Given the description of an element on the screen output the (x, y) to click on. 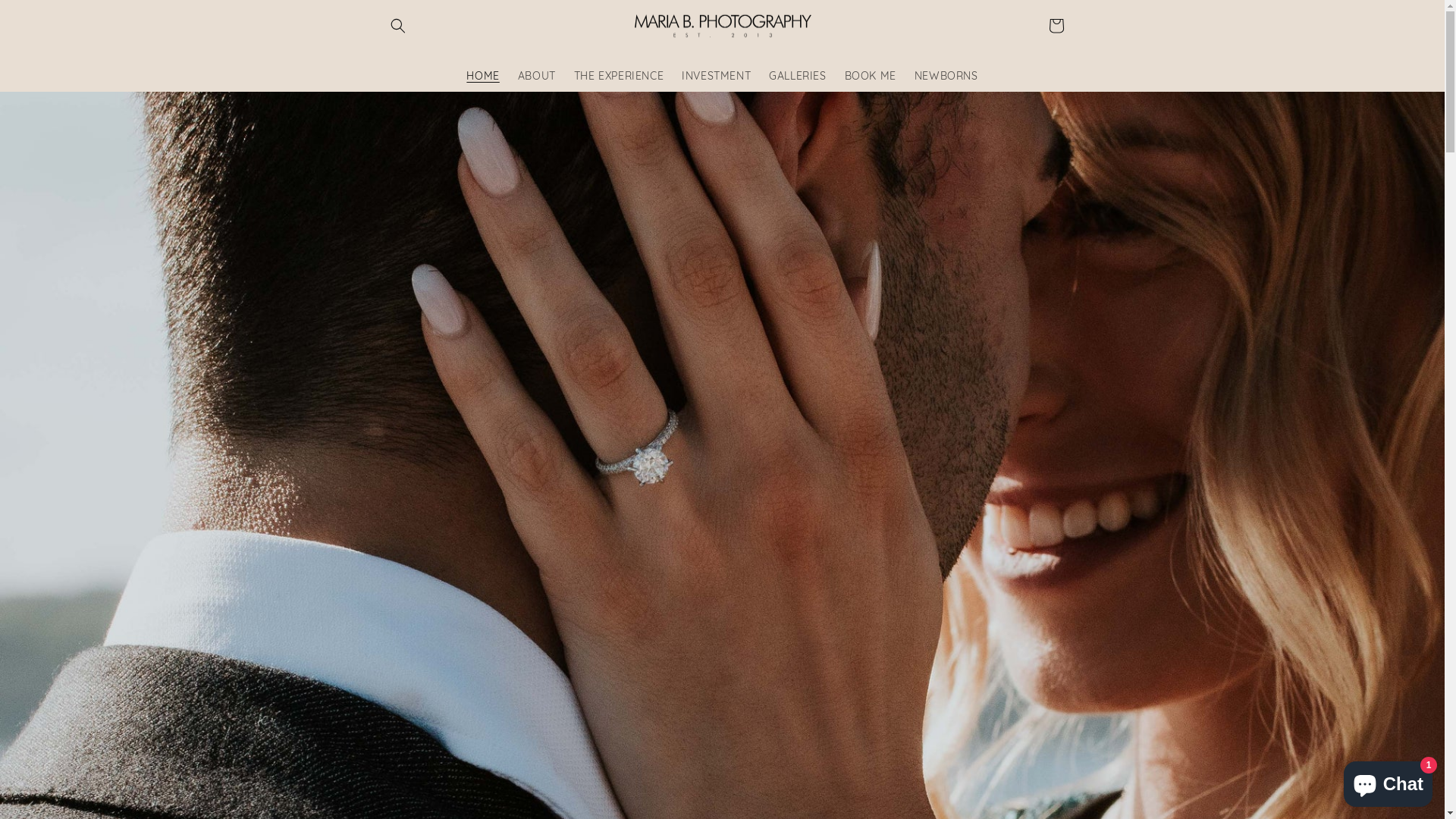
HOME Element type: text (482, 75)
NEWBORNS Element type: text (946, 75)
GALLERIES Element type: text (796, 75)
Cart Element type: text (1055, 25)
Shopify online store chat Element type: hover (1388, 780)
ABOUT Element type: text (536, 75)
BOOK ME Element type: text (870, 75)
INVESTMENT Element type: text (715, 75)
THE EXPERIENCE Element type: text (618, 75)
